Given the description of an element on the screen output the (x, y) to click on. 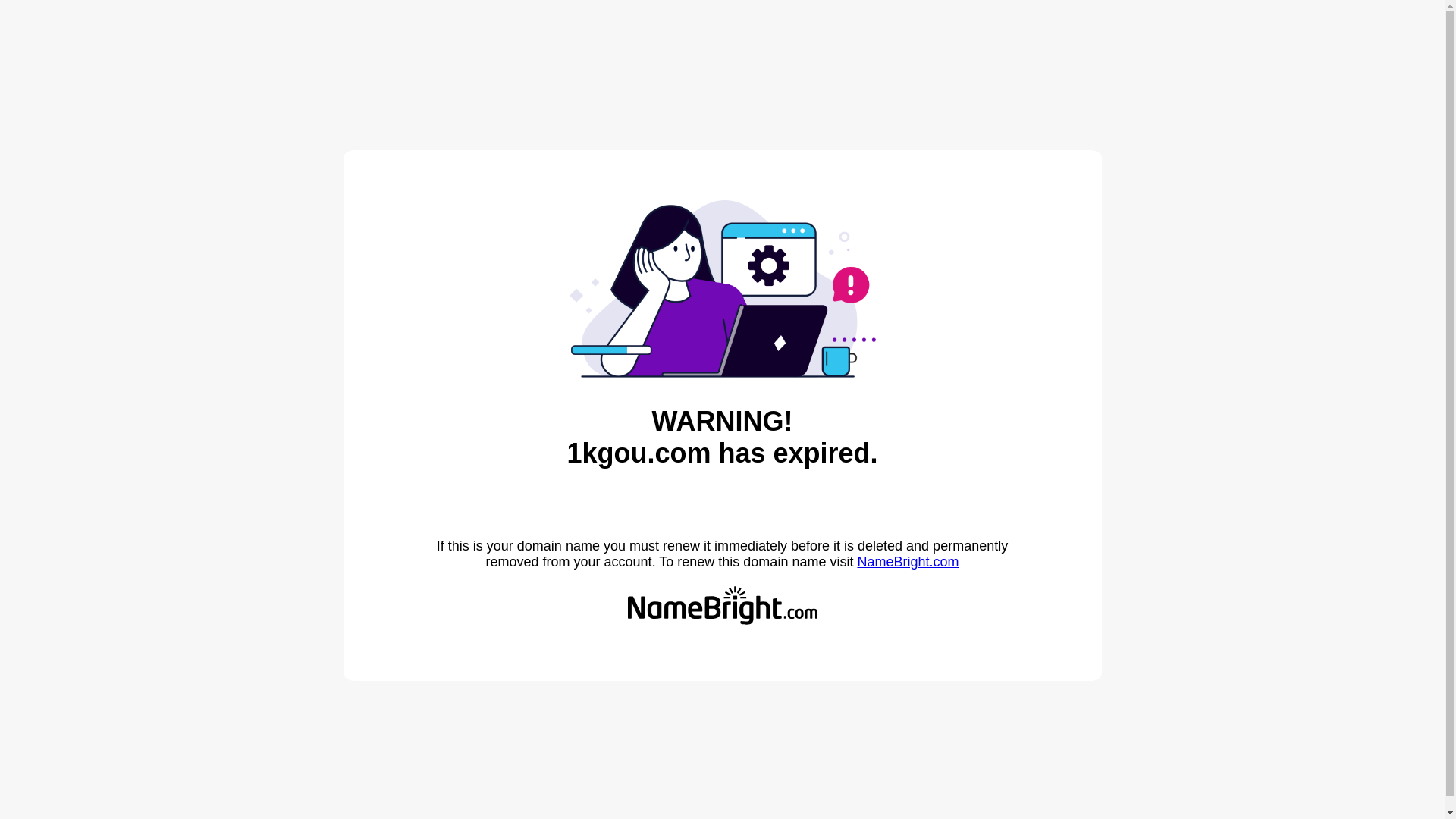
NameBright.com Element type: text (907, 561)
